Given the description of an element on the screen output the (x, y) to click on. 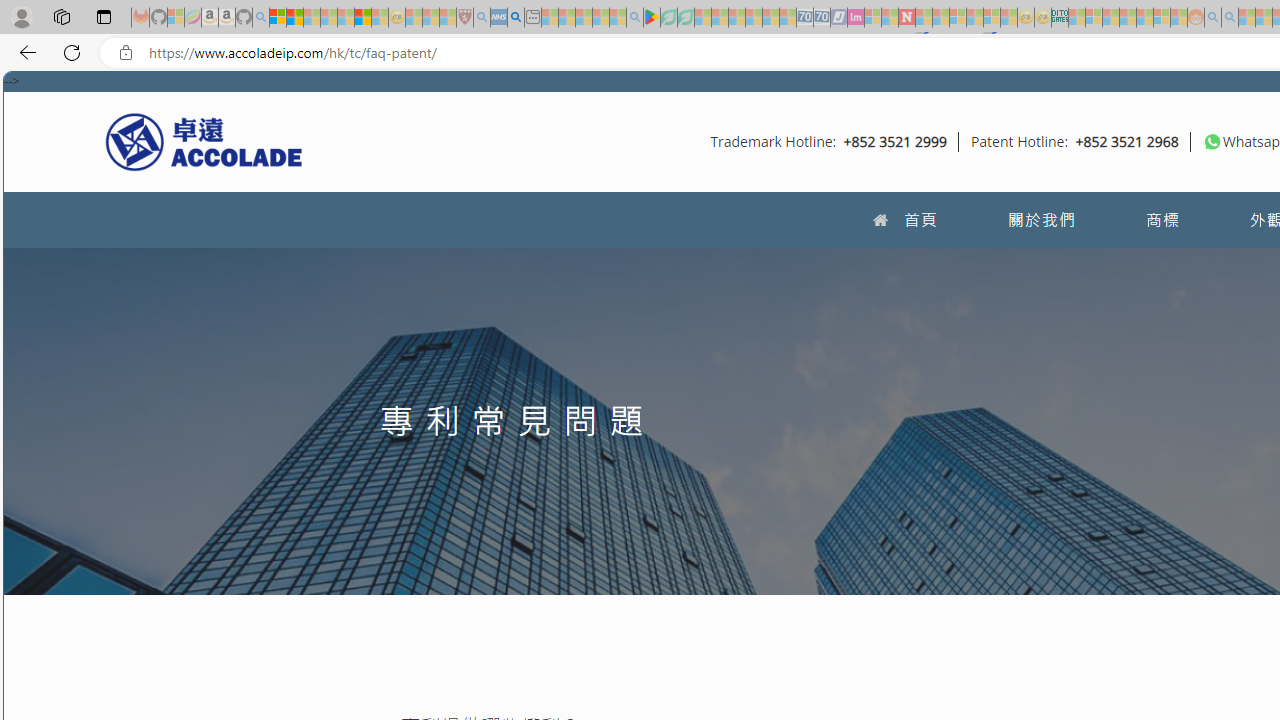
Accolade IP HK Logo (203, 141)
